Given the description of an element on the screen output the (x, y) to click on. 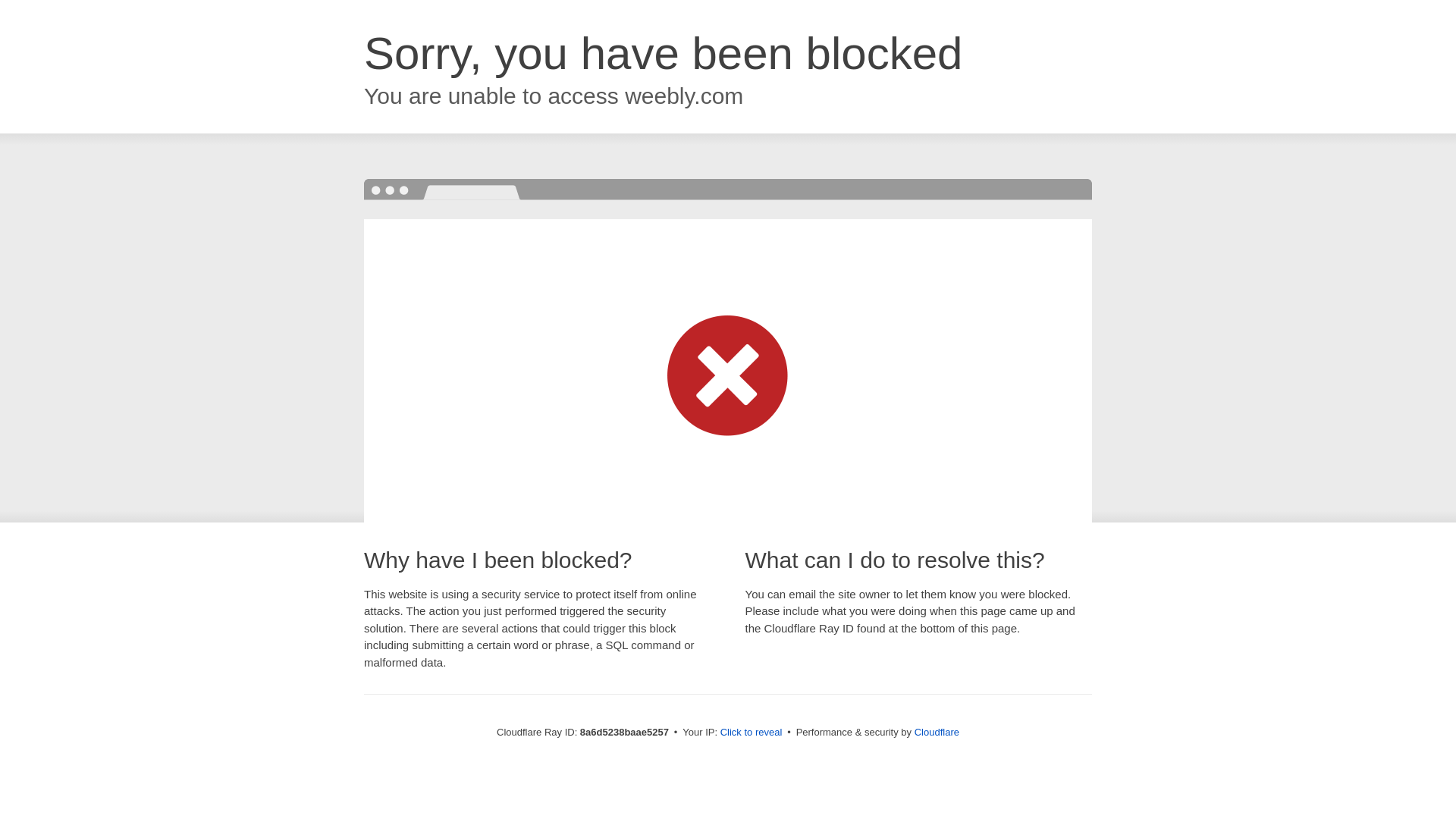
Click to reveal (751, 732)
Cloudflare (936, 731)
